Given the description of an element on the screen output the (x, y) to click on. 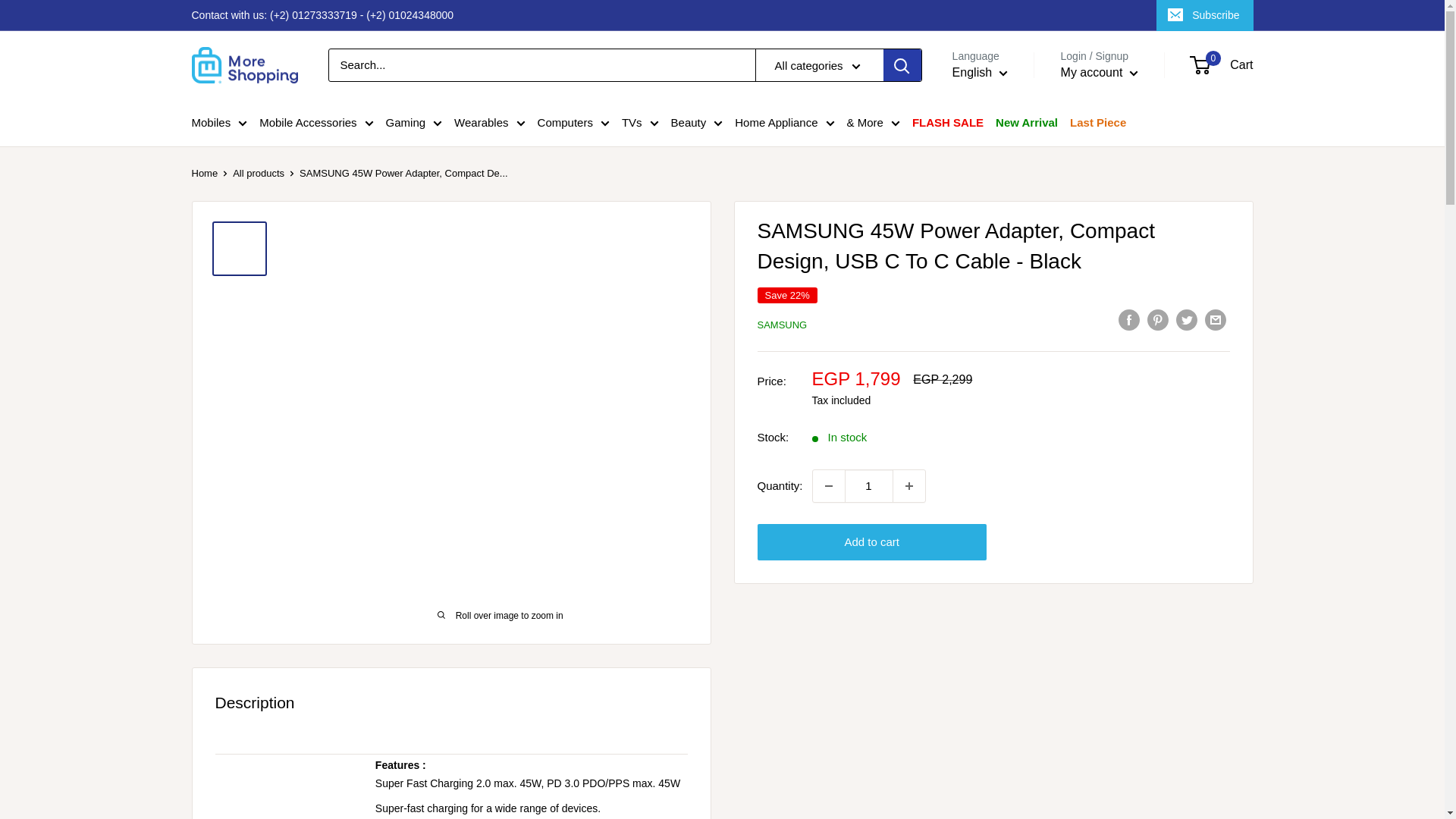
Increase quantity by 1 (908, 486)
Subscribe (1204, 15)
1 (868, 486)
Decrease quantity by 1 (828, 486)
